Given the description of an element on the screen output the (x, y) to click on. 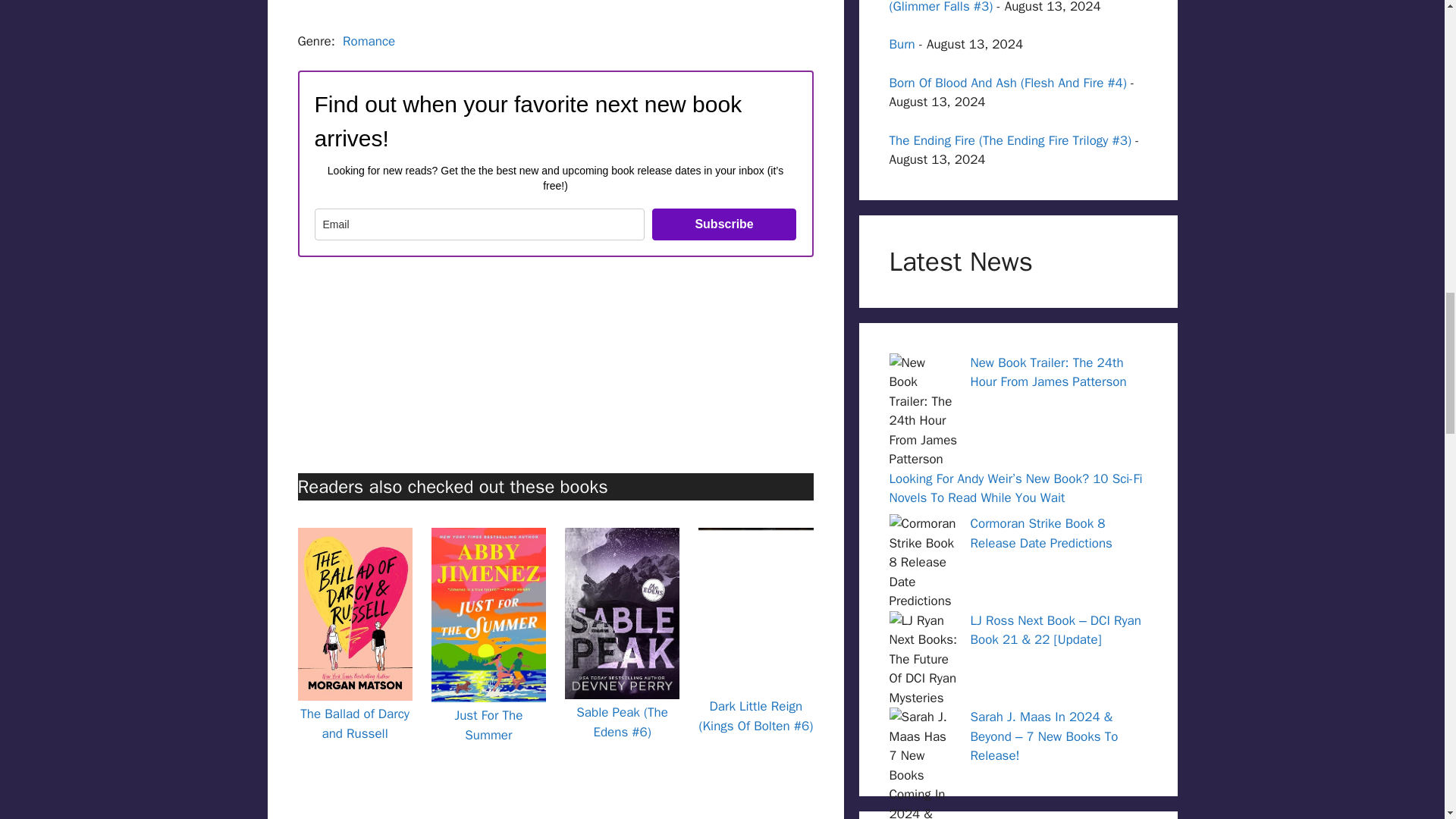
Romance (368, 41)
Just For The Summer (488, 724)
The Ballad of Darcy and Russell (354, 723)
Subscribe (724, 224)
